Given the description of an element on the screen output the (x, y) to click on. 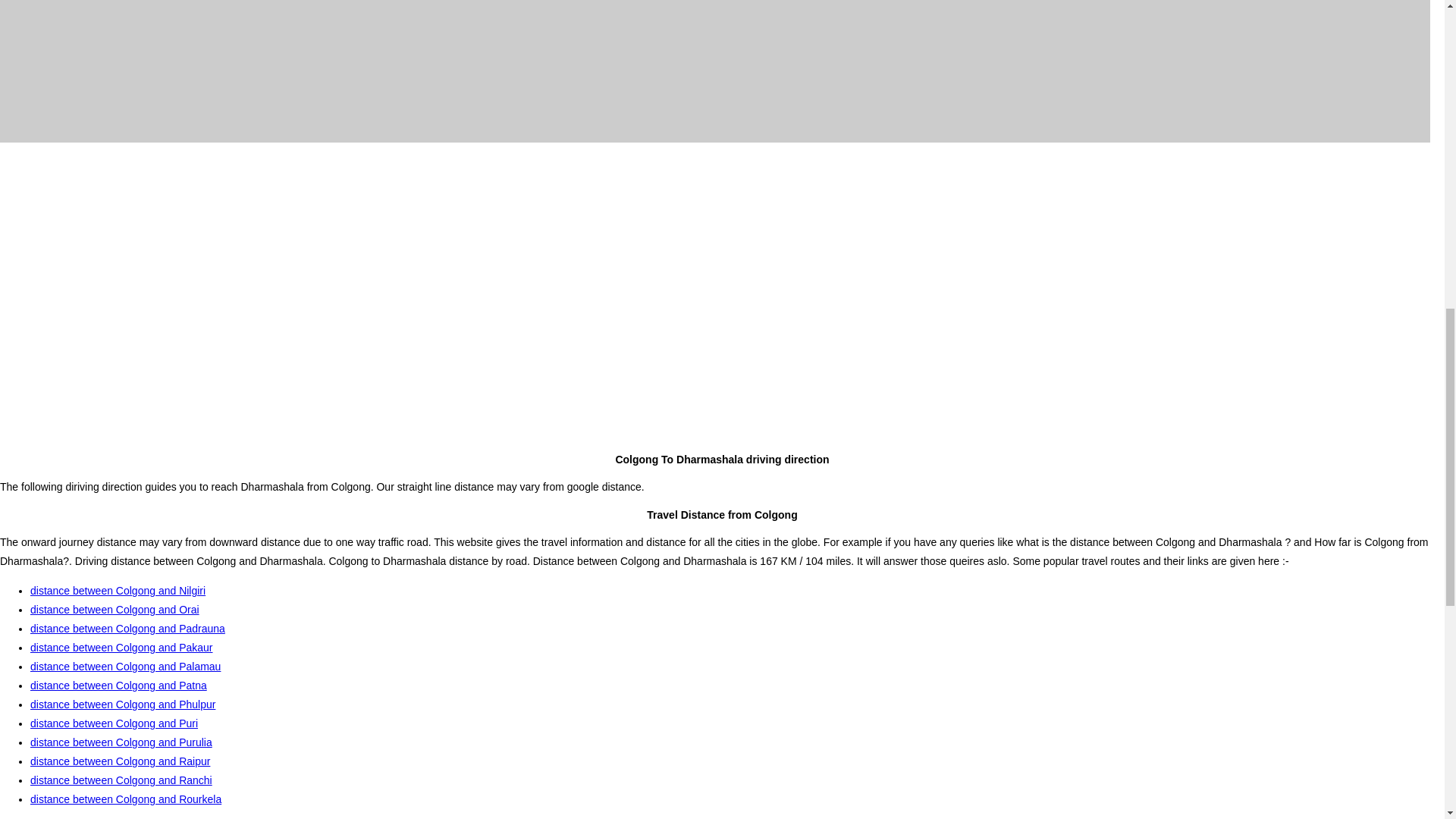
distance between Colgong and Purulia (121, 742)
distance between Colgong and Ranchi (121, 779)
distance between Colgong and Patna (118, 685)
distance between Colgong and Raipur (119, 761)
distance between Colgong and Phulpur (122, 704)
distance between Colgong and Rourkela (125, 799)
distance between Colgong and Orai (114, 609)
distance between Colgong and Puri (114, 723)
distance between Colgong and Nilgiri (117, 590)
distance between Colgong and Palamau (125, 666)
Advertisement (721, 183)
distance between Colgong and Pakaur (121, 647)
distance between Colgong and Padrauna (127, 628)
